Given the description of an element on the screen output the (x, y) to click on. 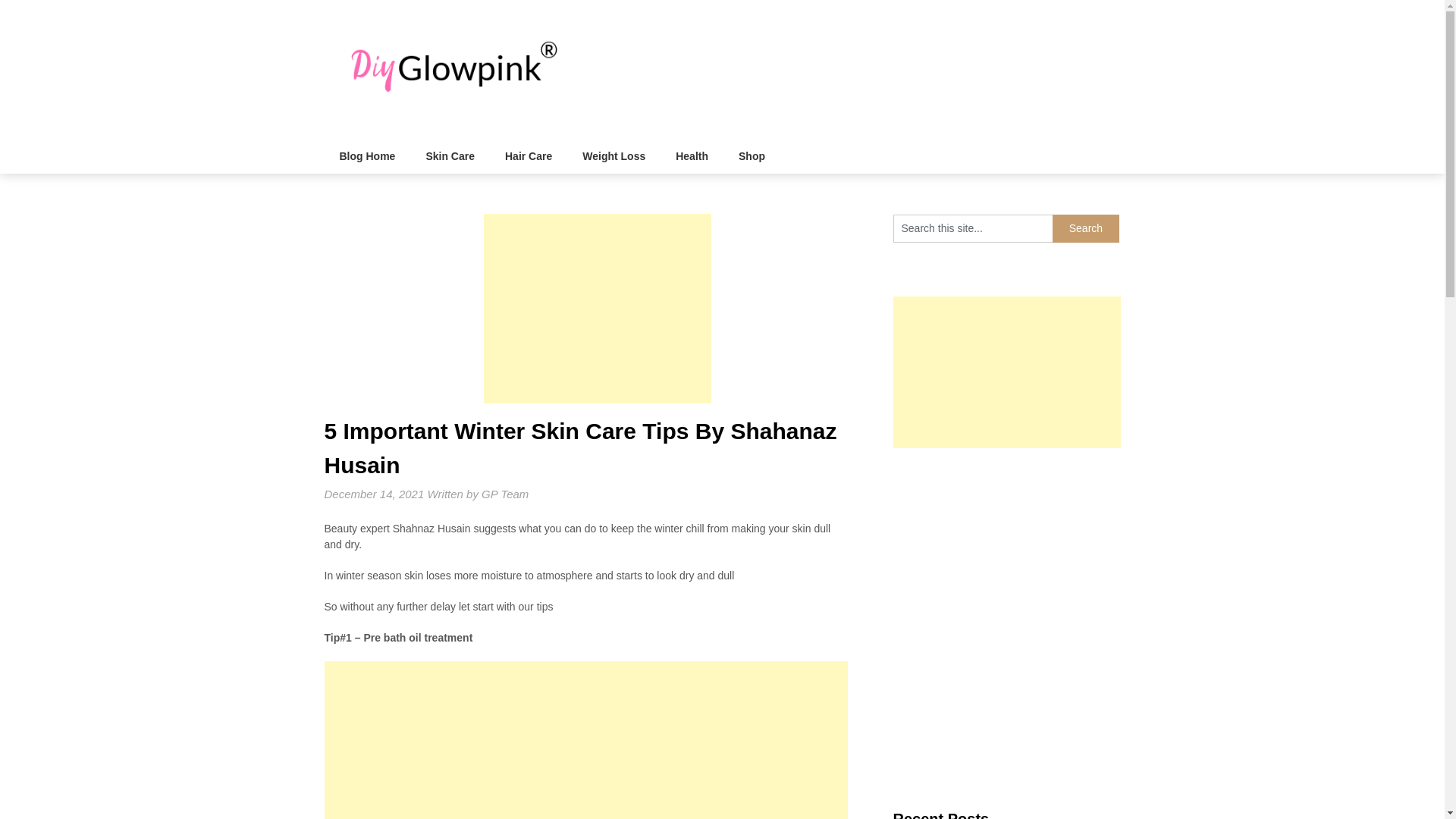
Hair Care (528, 156)
Search this site... (972, 228)
Advertisement (585, 739)
Advertisement (597, 308)
Shop (751, 156)
Skin Care (449, 156)
Blog Home (367, 156)
Advertisement (1007, 543)
Health (692, 156)
Search (1085, 228)
